Given the description of an element on the screen output the (x, y) to click on. 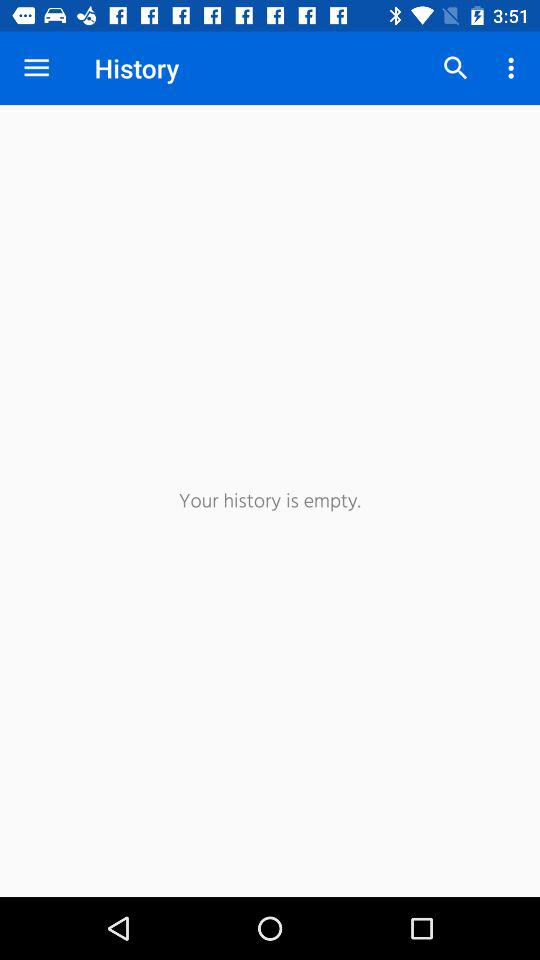
select the item to the left of the history (36, 68)
